Given the description of an element on the screen output the (x, y) to click on. 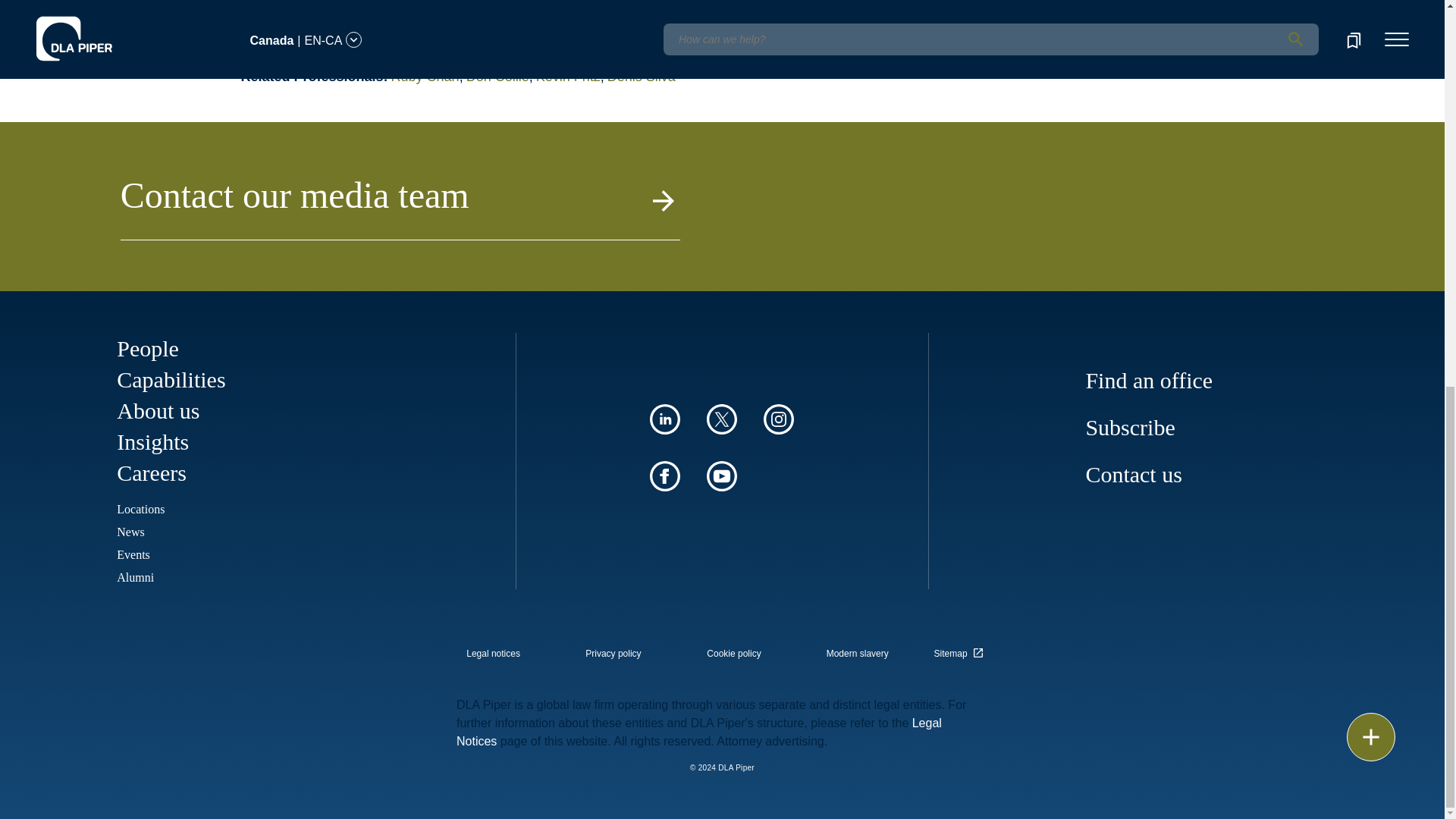
internal (734, 653)
internal (493, 653)
external (960, 649)
internal (612, 653)
internal (857, 653)
